Given the description of an element on the screen output the (x, y) to click on. 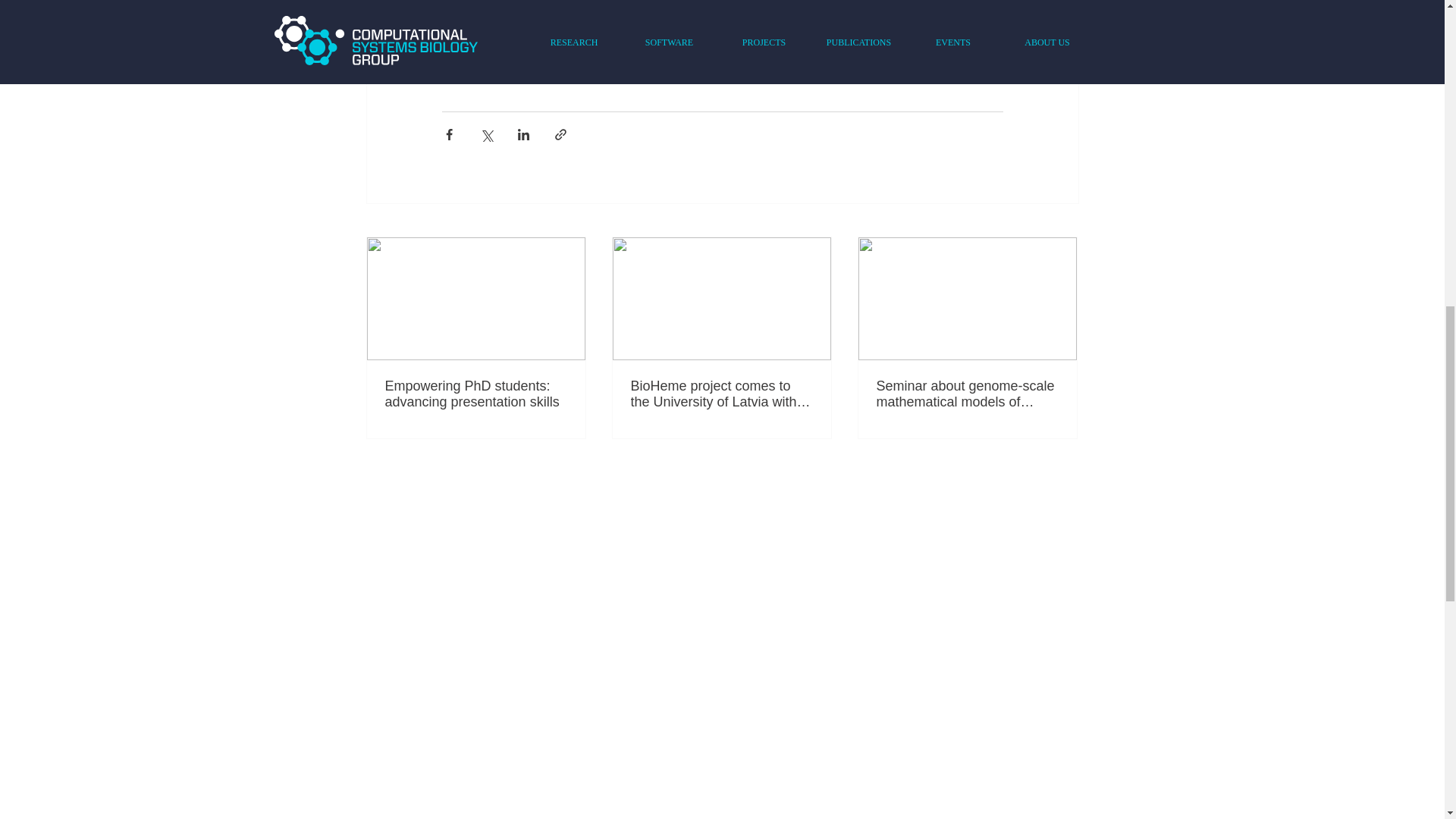
Empowering PhD students: advancing presentation skills (476, 394)
